Given the description of an element on the screen output the (x, y) to click on. 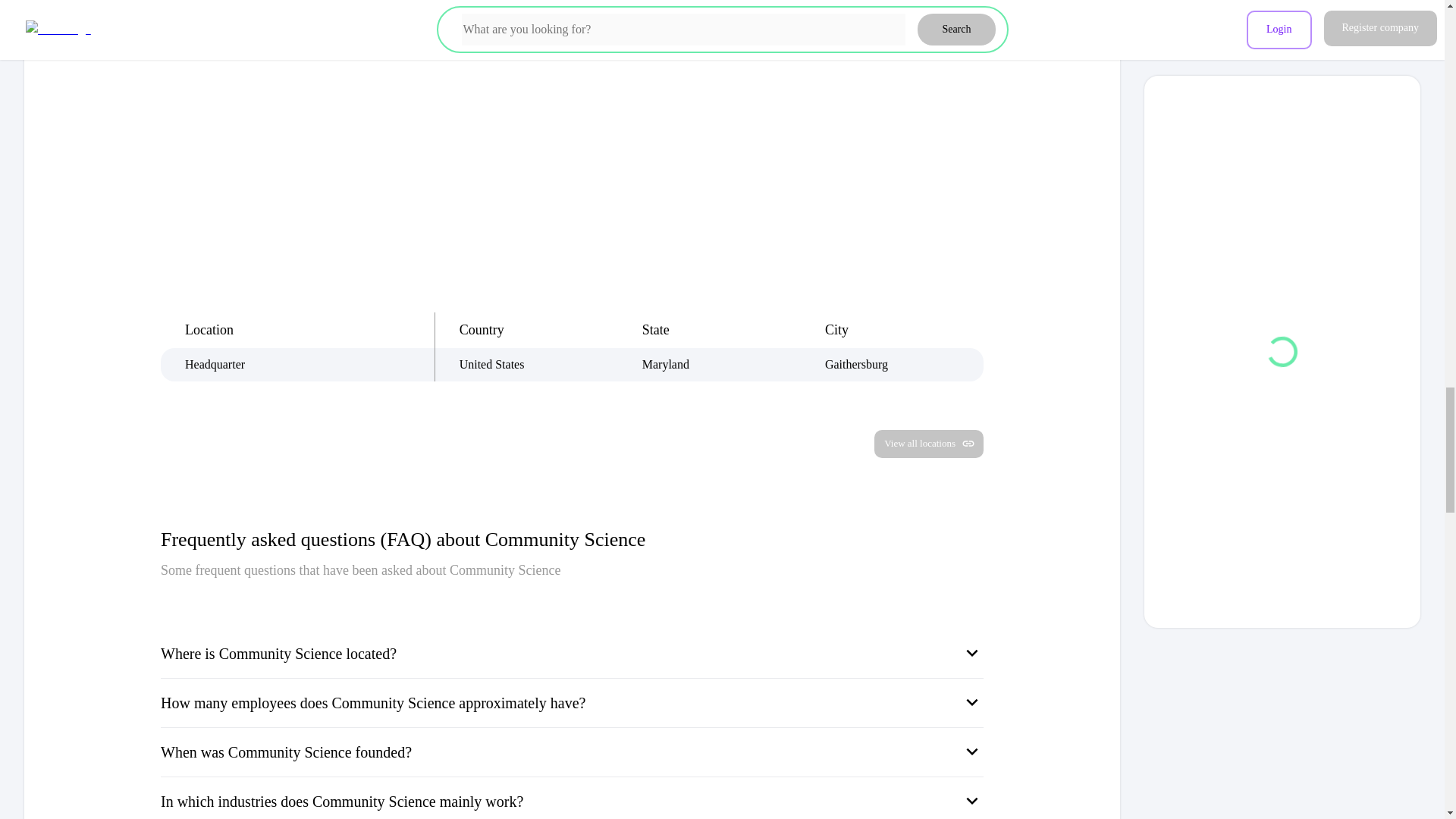
View all locations (929, 443)
